Given the description of an element on the screen output the (x, y) to click on. 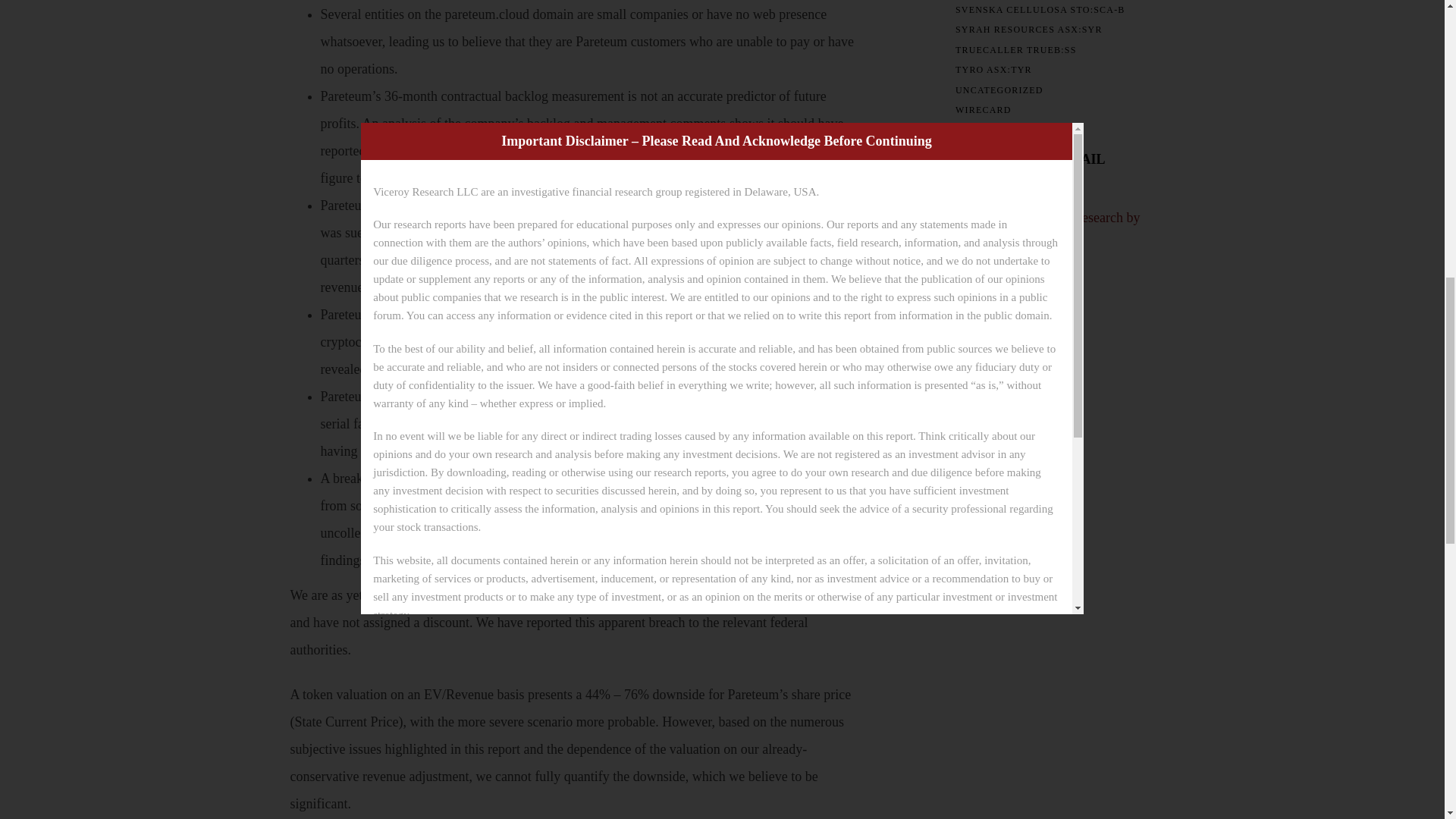
Disagree (762, 7)
Agree (659, 7)
